Given the description of an element on the screen output the (x, y) to click on. 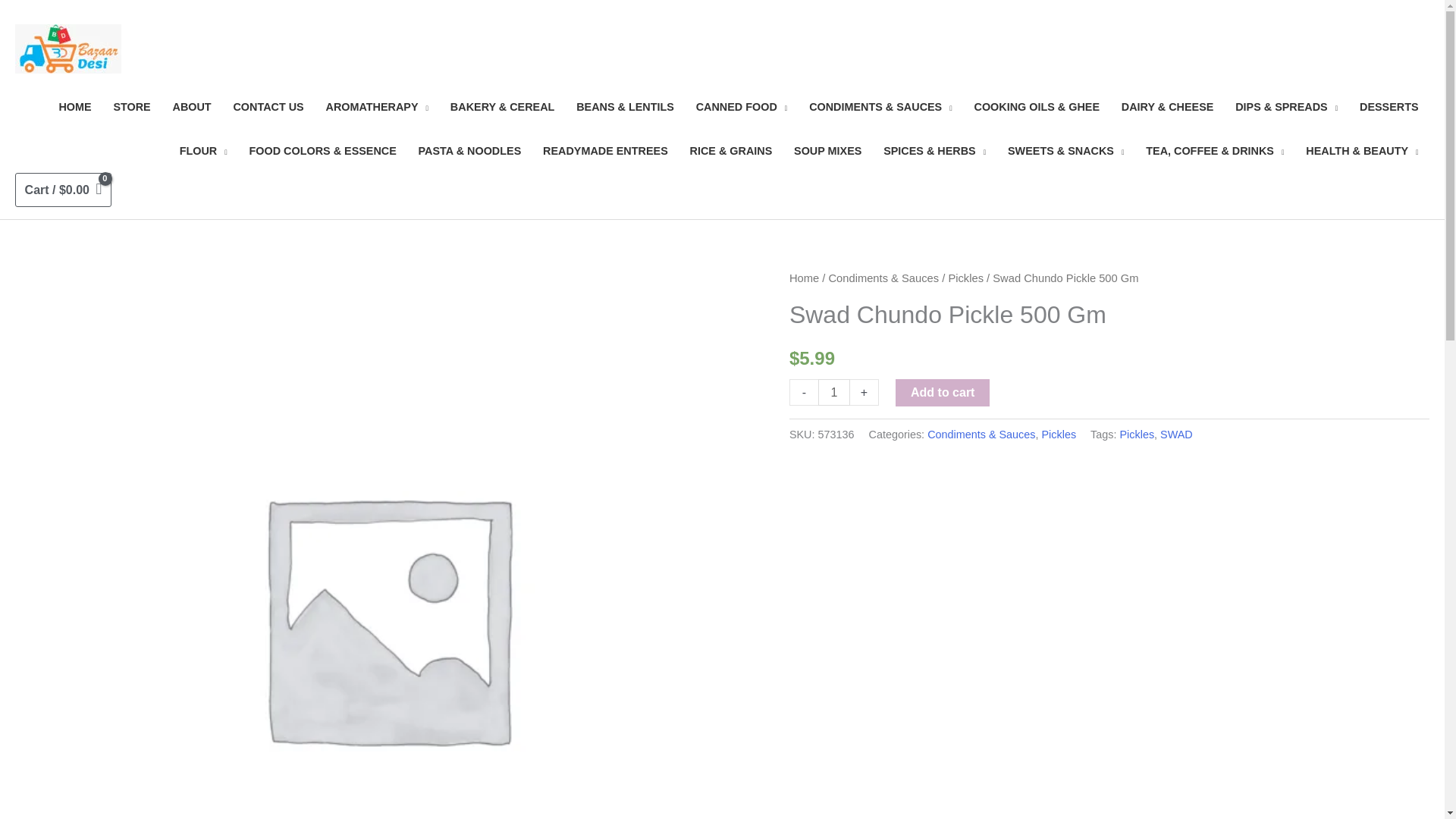
AROMATHERAPY (376, 107)
CONTACT US (268, 107)
DESSERTS (1389, 107)
1 (834, 392)
ABOUT (191, 107)
HOME (74, 107)
FLOUR (203, 151)
STORE (131, 107)
CANNED FOOD (740, 107)
